Given the description of an element on the screen output the (x, y) to click on. 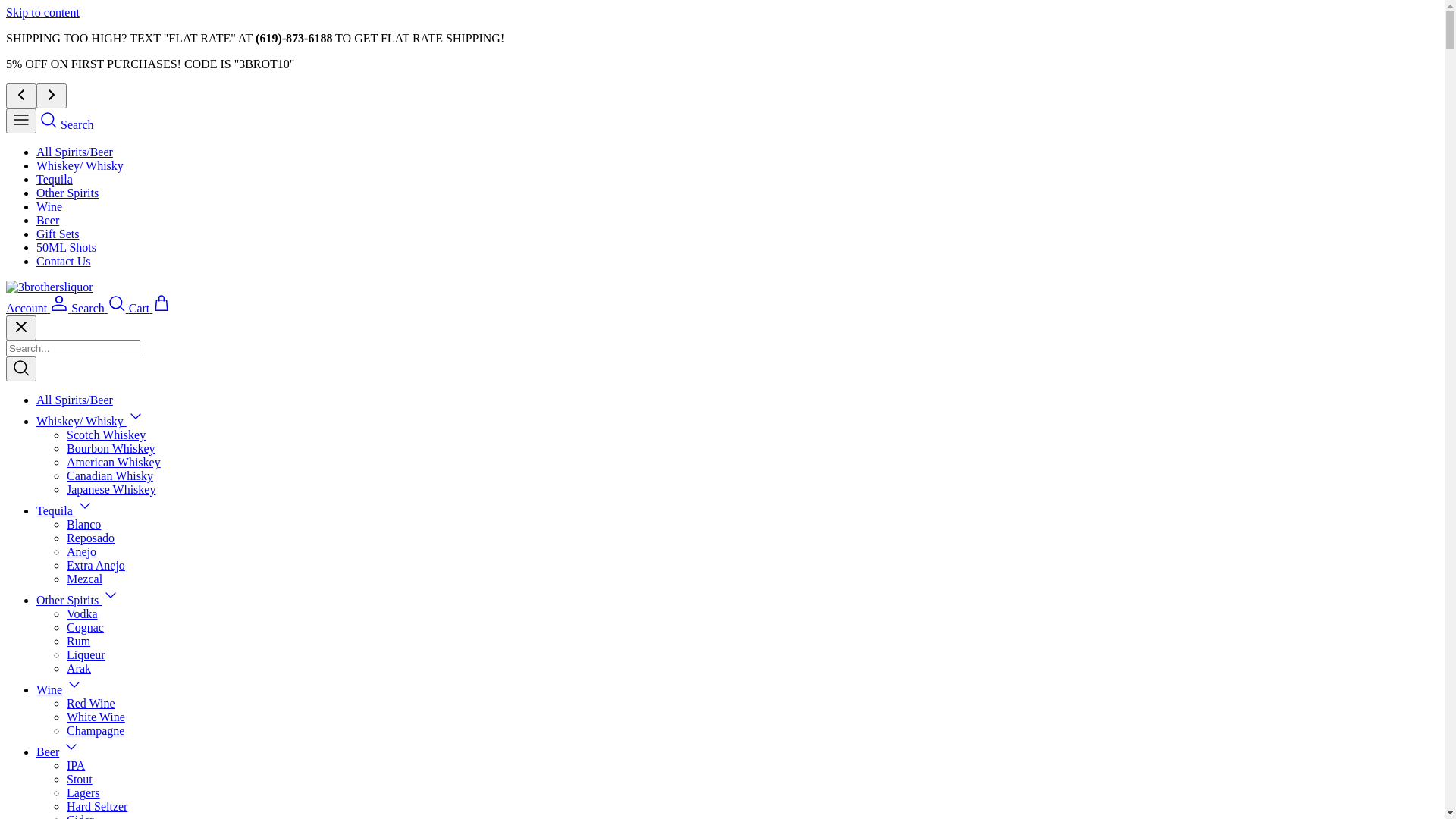
Lagers Element type: text (83, 792)
Gift Sets Element type: text (57, 233)
Extra Anejo Element type: text (95, 564)
Skip to content Element type: text (42, 12)
Other Spirits Element type: text (67, 192)
Cognac Element type: text (84, 627)
Contact Us Element type: text (63, 260)
All Spirits/Beer Element type: text (74, 399)
Japanese Whiskey Element type: text (110, 489)
Champagne Element type: text (95, 730)
Vodka Element type: text (81, 613)
Hard Seltzer Element type: text (96, 806)
Left Element type: text (21, 95)
Cart Element type: text (149, 307)
Liqueur Element type: text (85, 654)
Other Spirits Element type: text (68, 599)
Whiskey/ Whisky Element type: text (81, 420)
Scotch Whiskey Element type: text (105, 434)
Red Wine Element type: text (90, 702)
All Spirits/Beer Element type: text (74, 151)
Wine Element type: text (49, 689)
Mezcal Element type: text (84, 578)
Toggle menu Element type: text (84, 510)
Wine Element type: text (49, 206)
Search Element type: text (99, 307)
Anejo Element type: text (81, 551)
Whiskey/ Whisky Element type: text (79, 165)
Canadian Whisky Element type: text (109, 475)
American Whiskey Element type: text (113, 461)
Tequila Element type: text (55, 510)
Account Element type: text (38, 307)
Beer Element type: text (47, 219)
Toggle menu Element type: text (110, 599)
Bourbon Whiskey Element type: text (110, 448)
White Wine Element type: text (95, 716)
Blanco Element type: text (83, 523)
Toggle menu Element type: text (71, 751)
Toggle menu Element type: text (135, 420)
Beer Element type: text (47, 751)
50ML Shots Element type: text (66, 247)
Arak Element type: text (78, 668)
Rum Element type: text (78, 640)
Reposado Element type: text (90, 537)
Stout Element type: text (79, 778)
Search Element type: text (66, 124)
3brothersliquor Element type: hover (49, 286)
Right Element type: text (51, 95)
Tequila Element type: text (54, 178)
IPA Element type: text (75, 765)
Toggle menu Element type: text (74, 689)
